Given the description of an element on the screen output the (x, y) to click on. 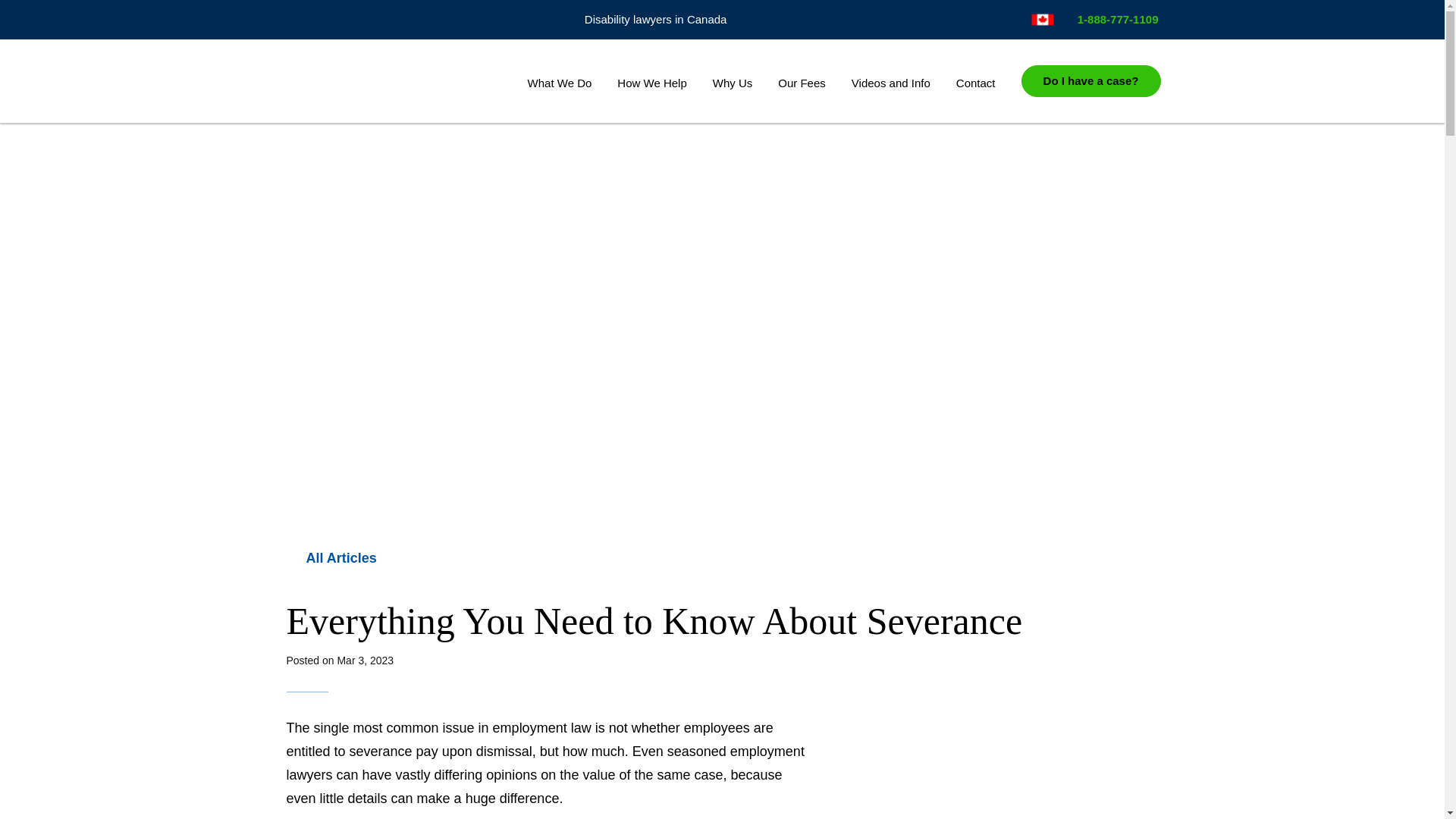
1-888-777-1109 (1111, 19)
Share Lawyers (385, 81)
